Given the description of an element on the screen output the (x, y) to click on. 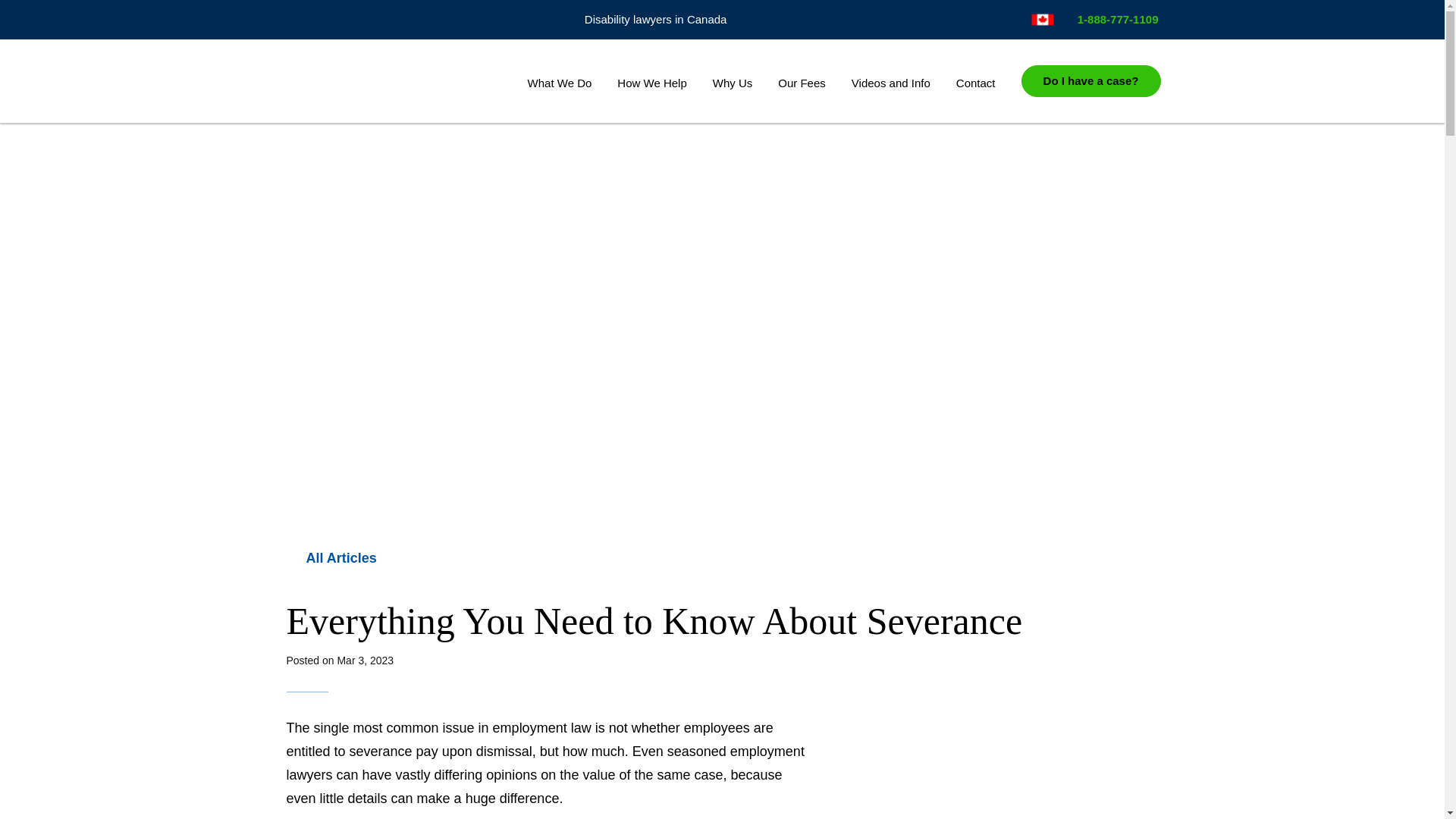
1-888-777-1109 (1111, 19)
Share Lawyers (385, 81)
